Given the description of an element on the screen output the (x, y) to click on. 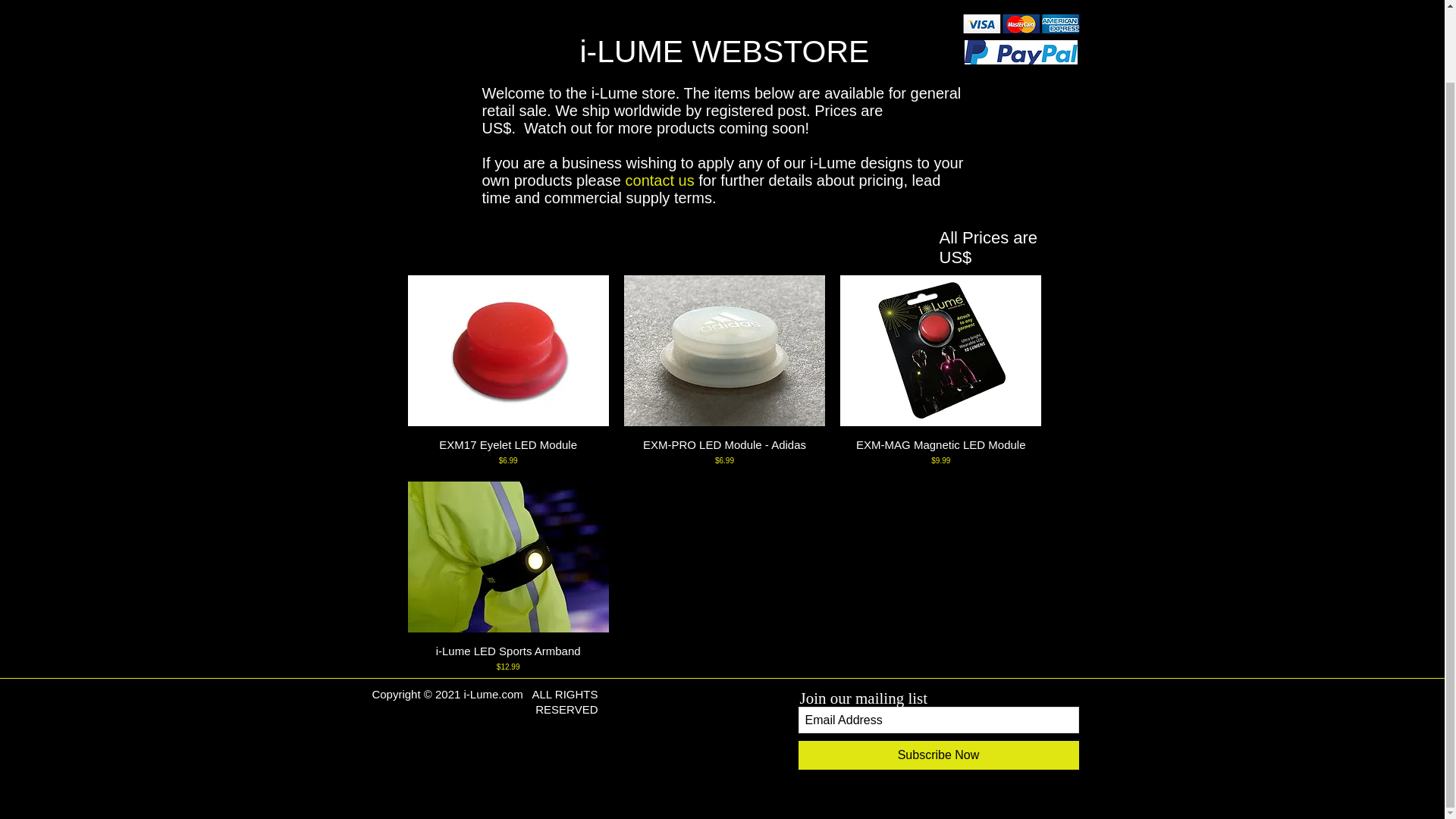
Subscribe Now (937, 755)
contact us (660, 180)
